Given the description of an element on the screen output the (x, y) to click on. 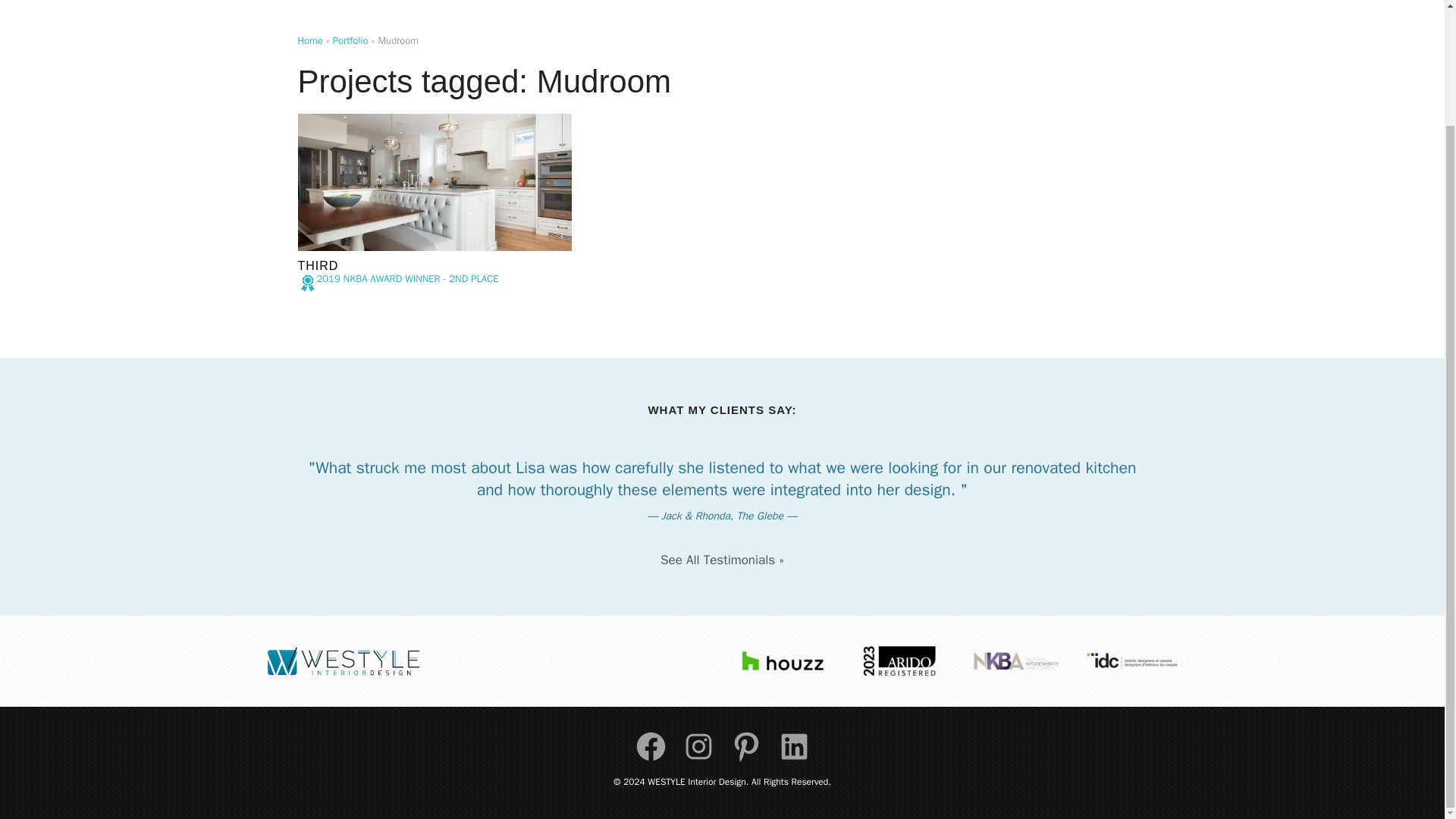
Portfolio (350, 40)
Facebook (650, 746)
Instagram (697, 746)
LinkedIn (793, 746)
Home (309, 40)
Pinterest (745, 746)
THIRD (317, 265)
